Given the description of an element on the screen output the (x, y) to click on. 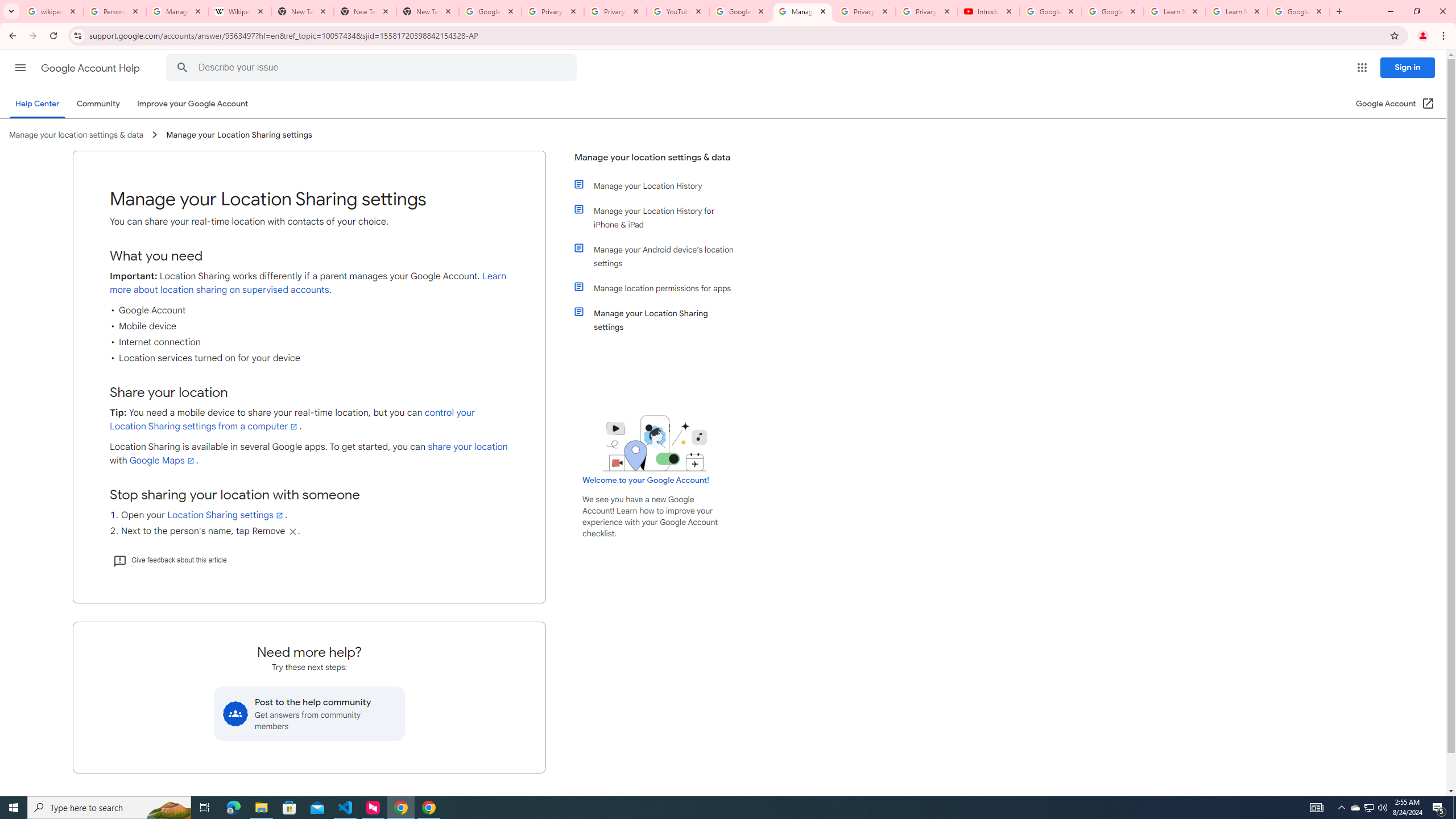
share your location (468, 446)
